Given the description of an element on the screen output the (x, y) to click on. 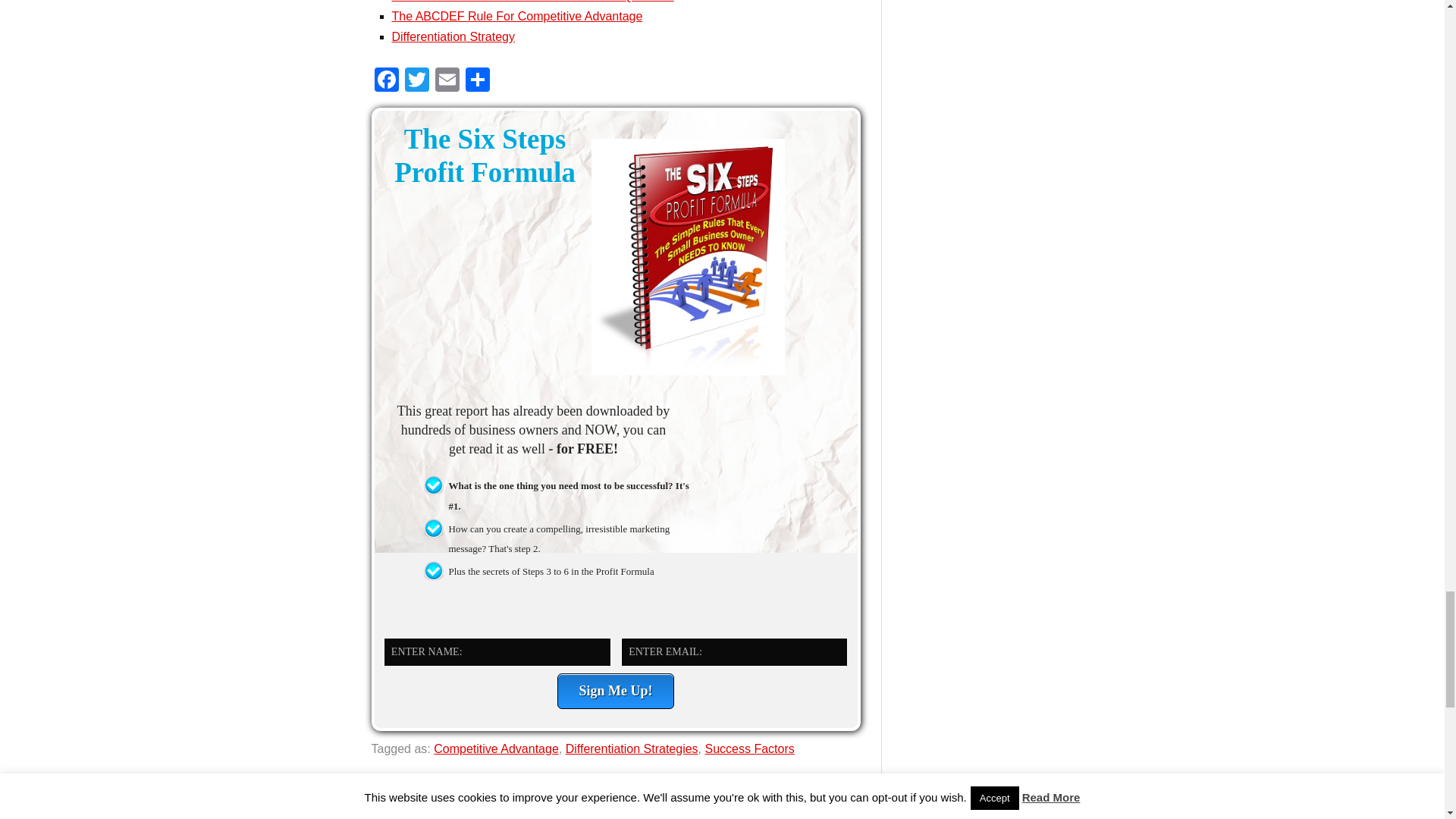
Email (447, 81)
Success Factors (748, 748)
Twitter (416, 81)
Twitter (416, 81)
Differentiation Strategy (452, 36)
ENTER NAME: (497, 652)
The ABCDEF Rule For Competitive Advantage (516, 15)
Email (447, 81)
Differentiation Strategy (452, 36)
Competitive Advantage (496, 748)
